Given the description of an element on the screen output the (x, y) to click on. 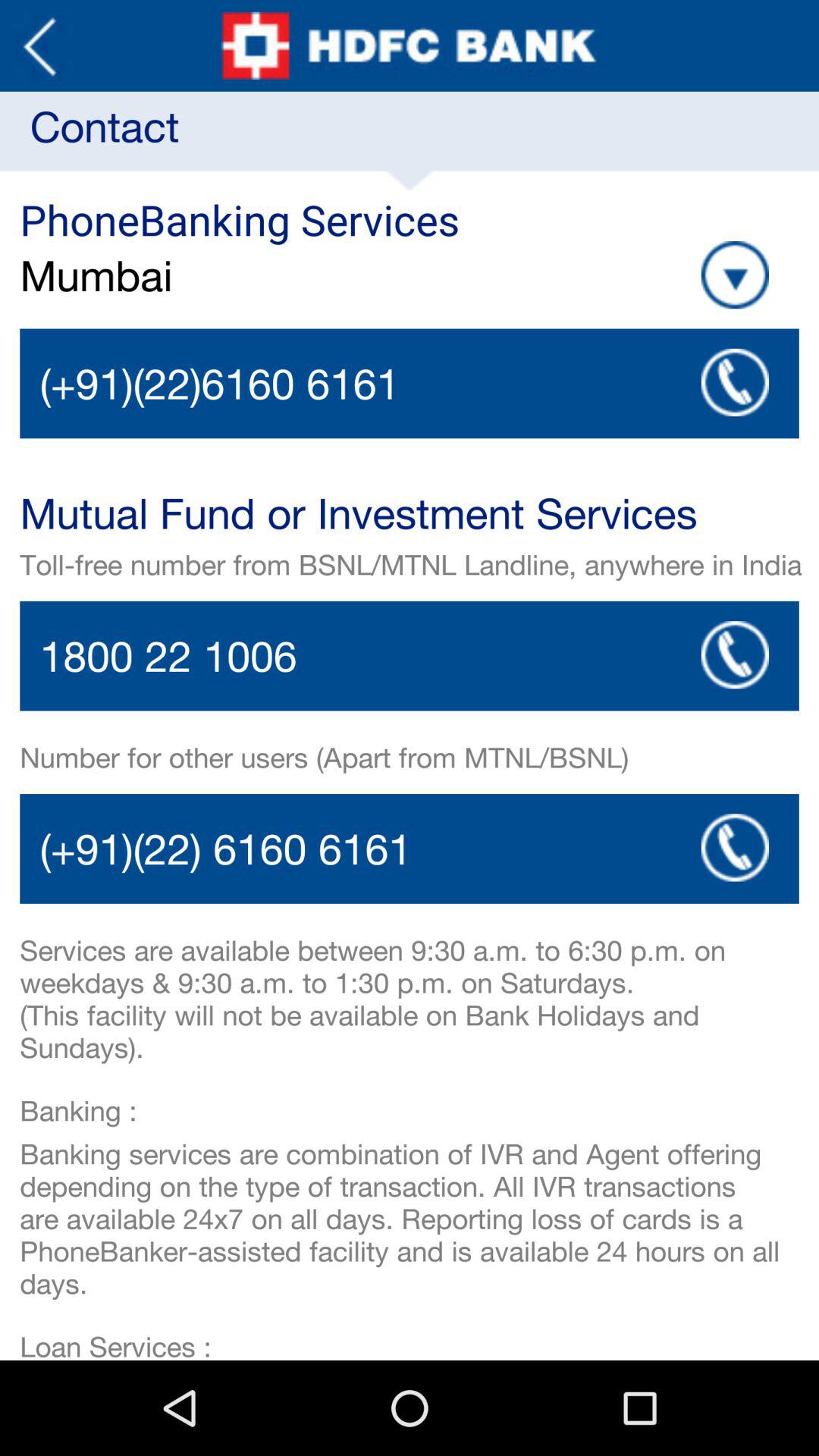
contact symbol (734, 654)
